Given the description of an element on the screen output the (x, y) to click on. 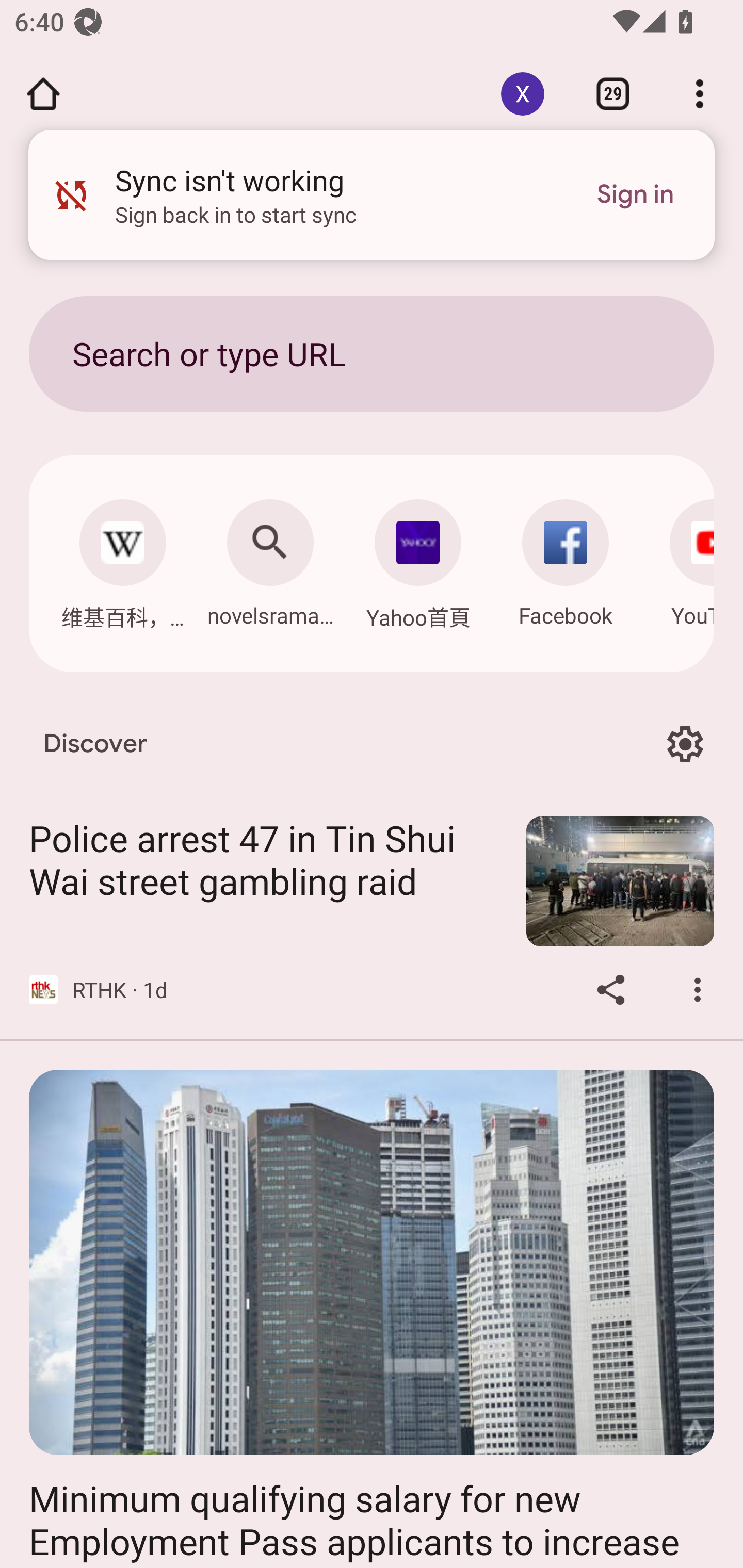
Open the home page (43, 93)
Switch or close tabs (612, 93)
Customize and control Google Chrome (699, 93)
Sign in (634, 195)
Search or type URL (371, 353)
Navigate: Yahoo首頁: hk.mobi.yahoo.com Yahoo首頁 (417, 558)
Navigate: Facebook: m.facebook.com Facebook (565, 558)
Options for Discover (684, 743)
